Given the description of an element on the screen output the (x, y) to click on. 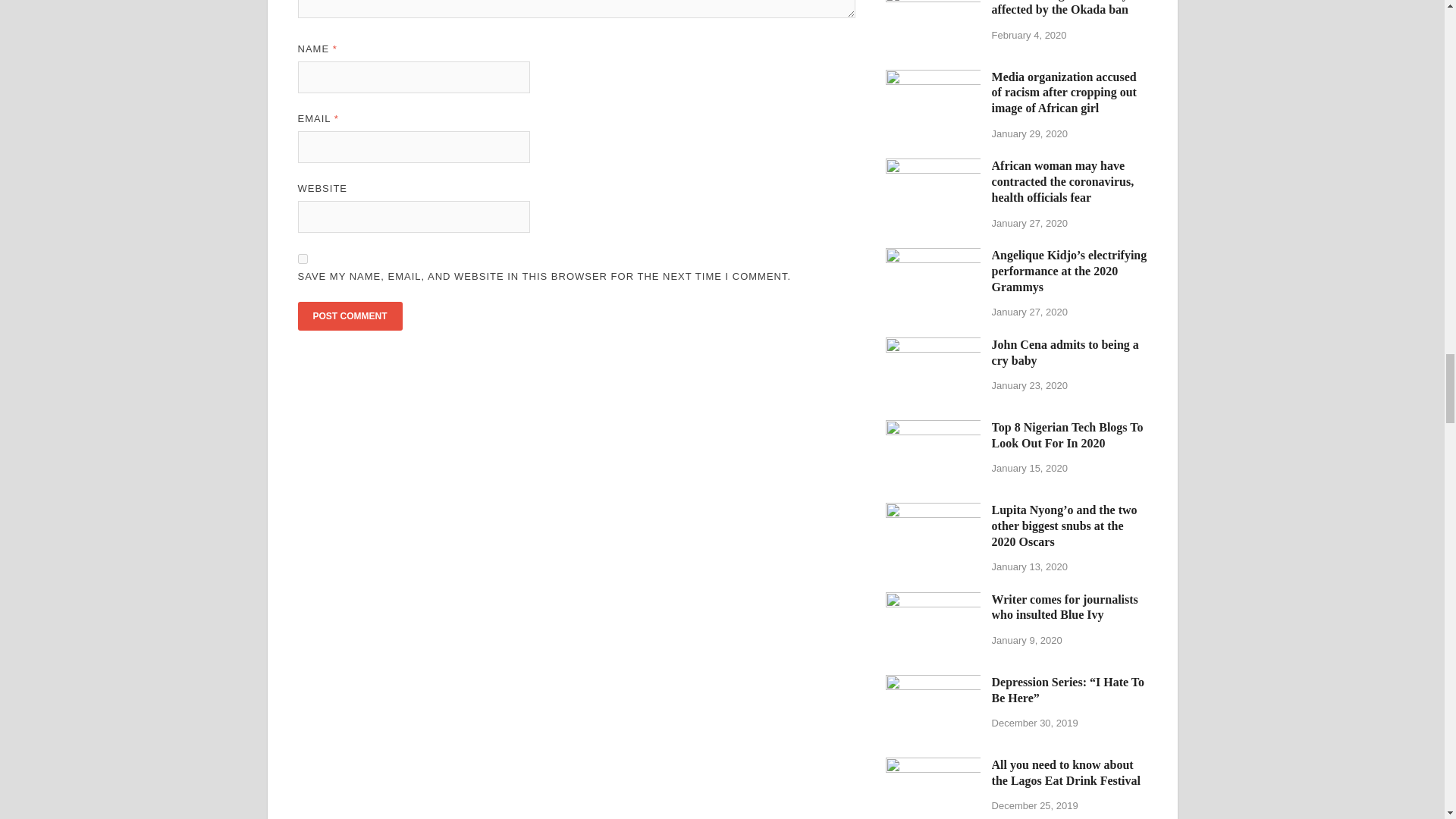
Post Comment (349, 316)
yes (302, 258)
